Given the description of an element on the screen output the (x, y) to click on. 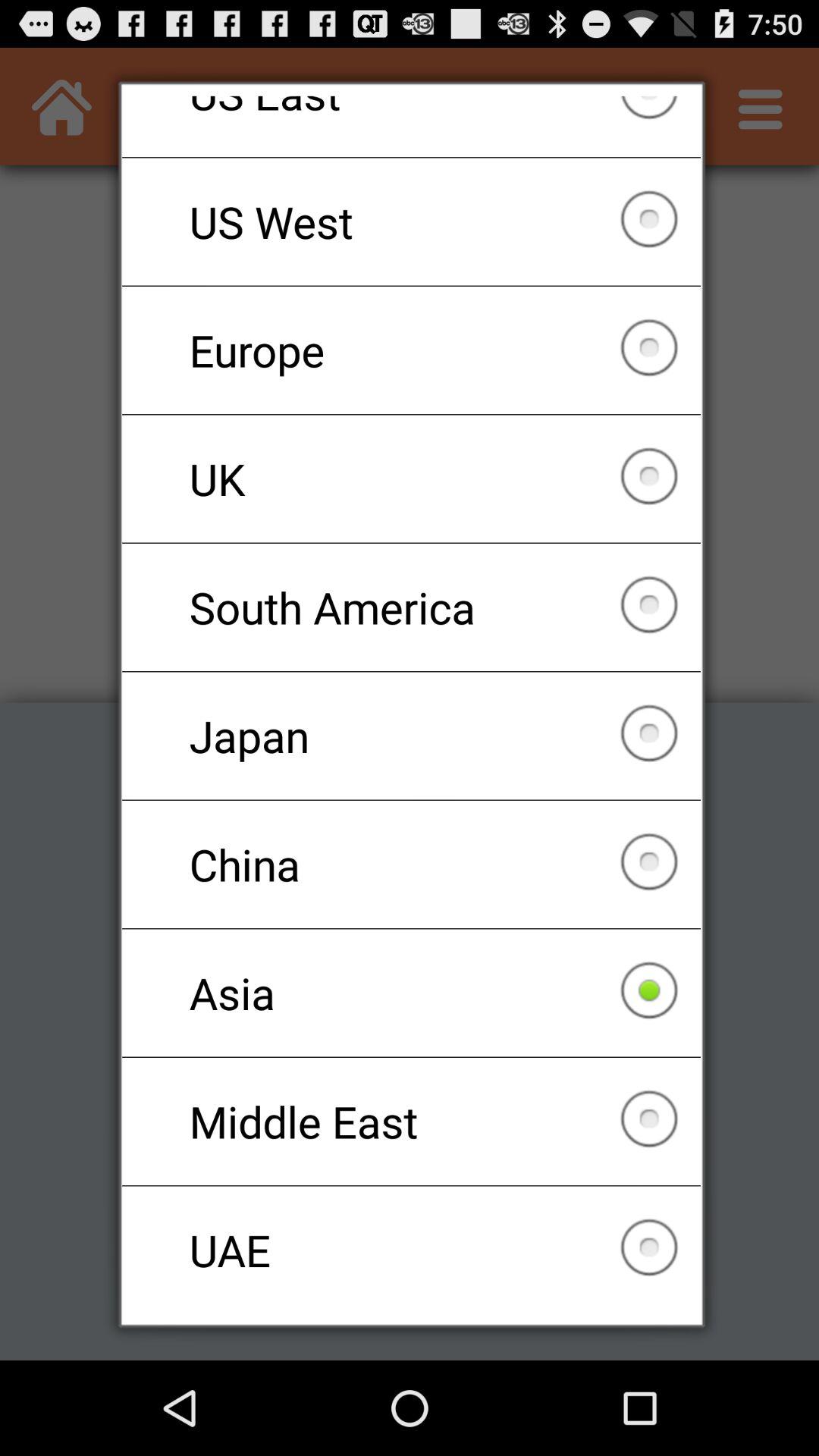
tap checkbox below the     middle east (411, 1249)
